Given the description of an element on the screen output the (x, y) to click on. 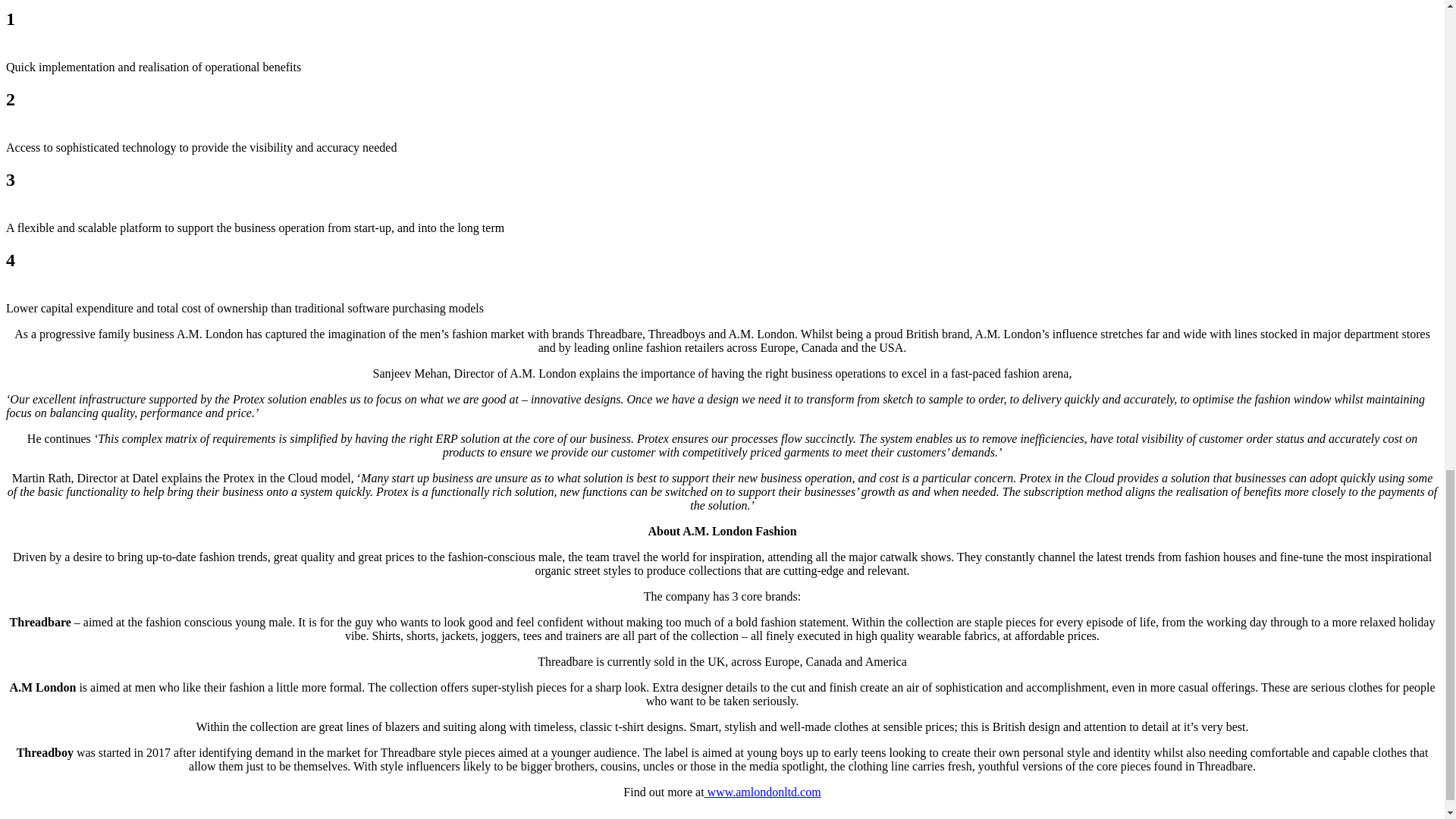
www.amlondonltd.com (762, 791)
